Given the description of an element on the screen output the (x, y) to click on. 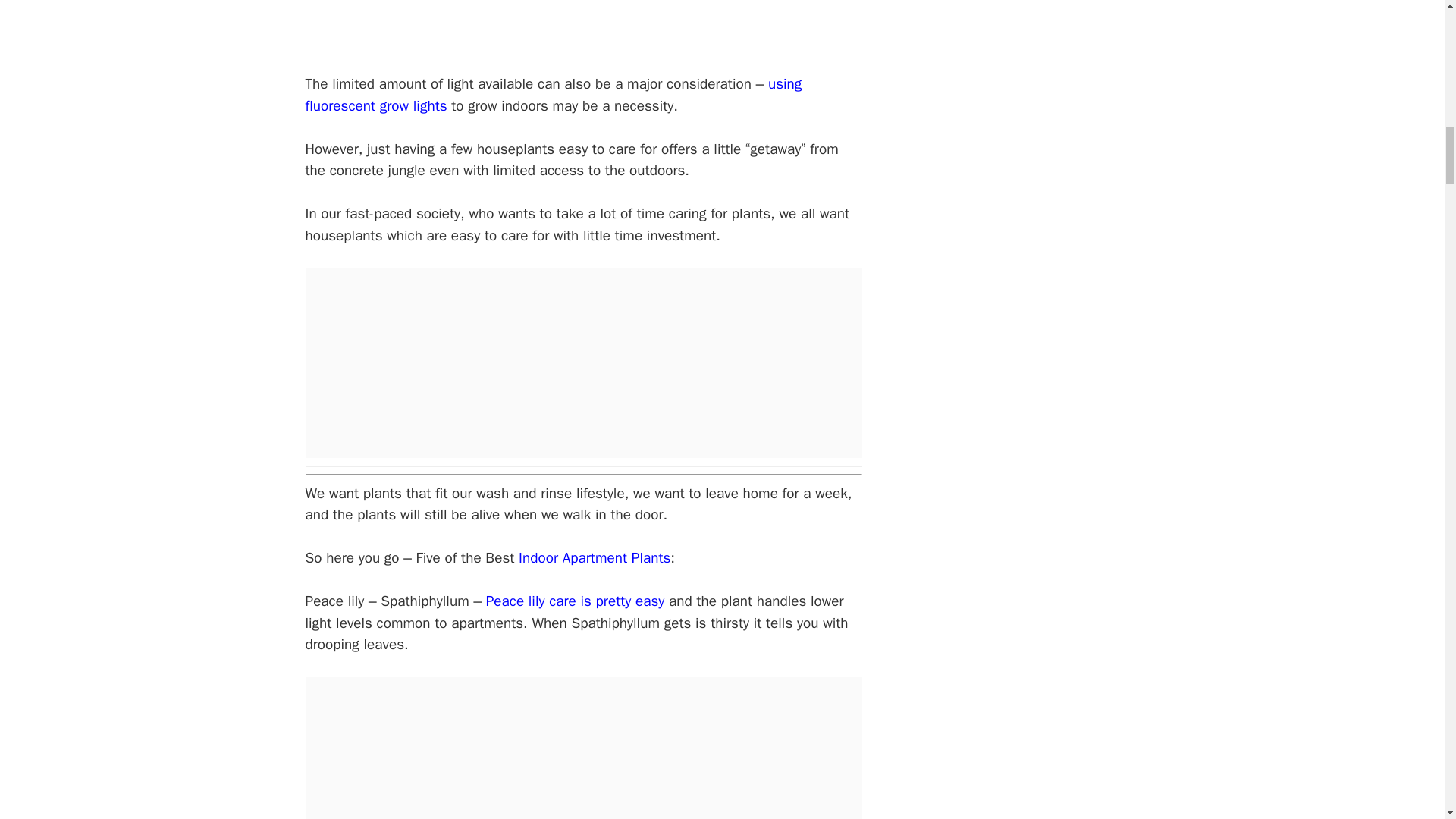
Peace lily care is pretty easy (575, 601)
using fluorescent grow lights (553, 95)
Indoor Apartment Plants (593, 557)
